Given the description of an element on the screen output the (x, y) to click on. 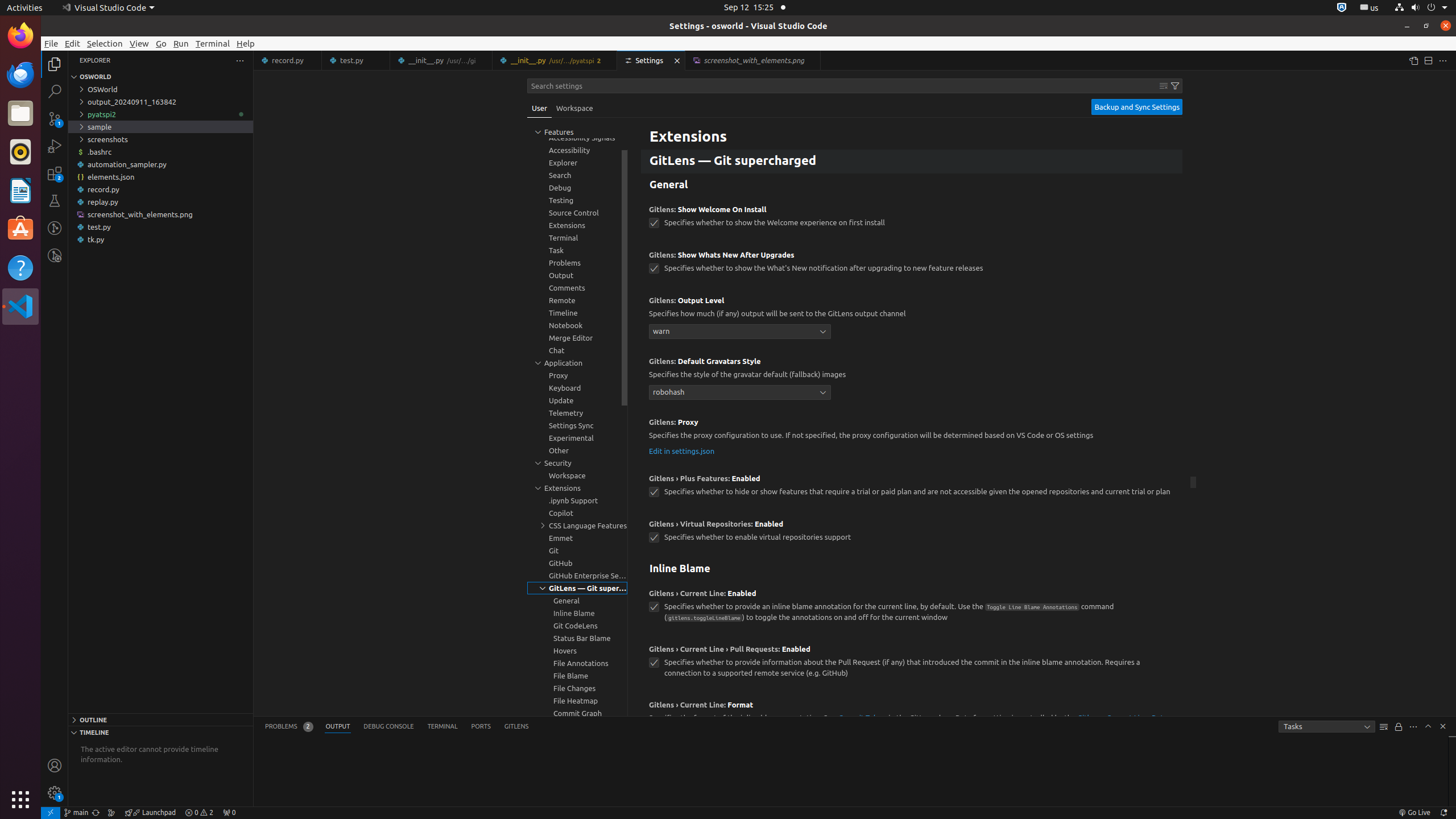
Debug Console (Ctrl+Shift+Y) Element type: page-tab (388, 726)
test.py Element type: page-tab (355, 60)
Inline Blame, group Element type: tree-item (577, 612)
GitHub Enterprise Server Authentication Provider, group Element type: tree-item (577, 575)
Explorer Section: osworld Element type: push-button (160, 76)
